Given the description of an element on the screen output the (x, y) to click on. 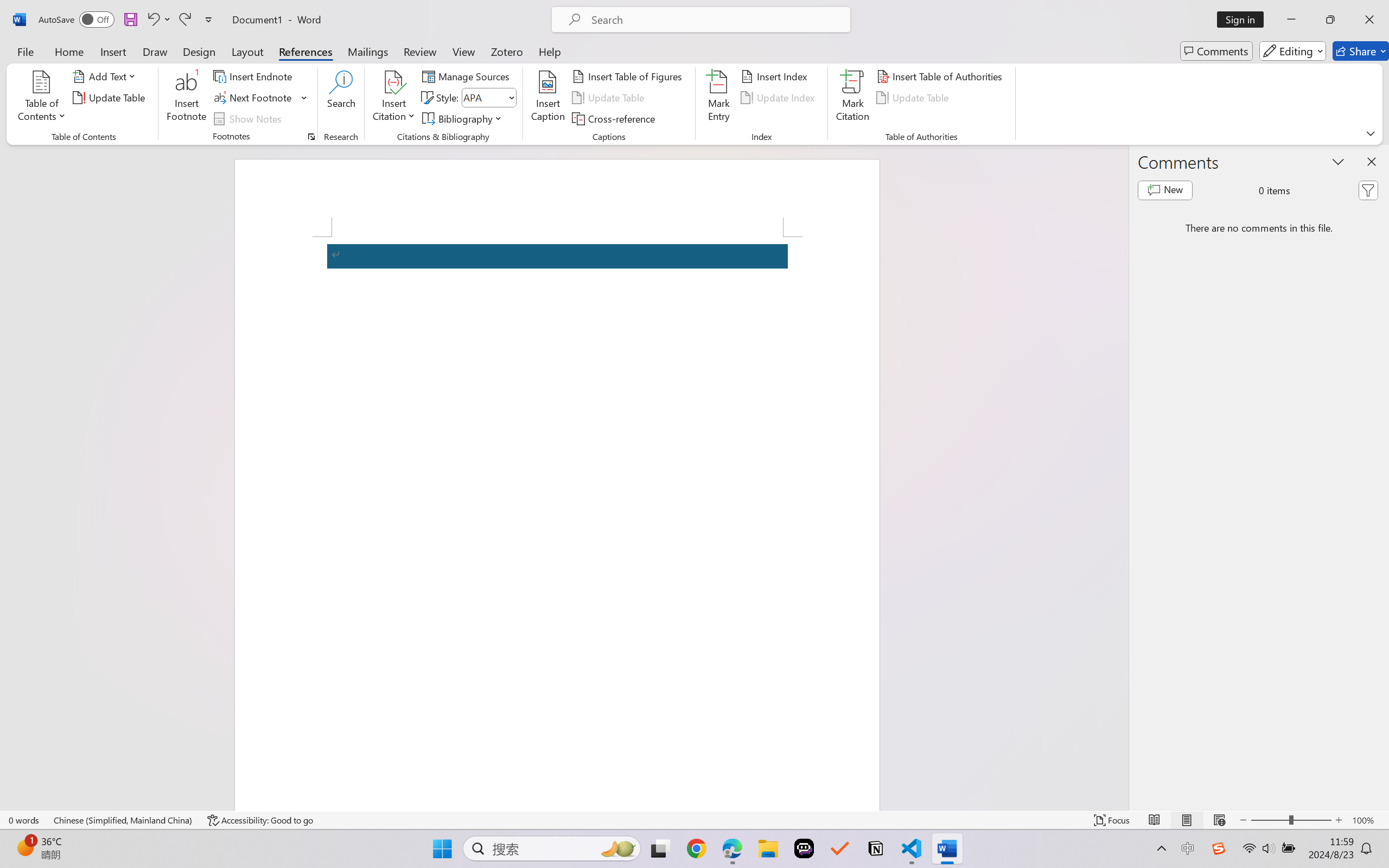
Insert Endnote (253, 75)
Insert Index... (775, 75)
Cross-reference... (615, 118)
Sign in (1244, 19)
Update Index (778, 97)
New comment (1165, 190)
